Given the description of an element on the screen output the (x, y) to click on. 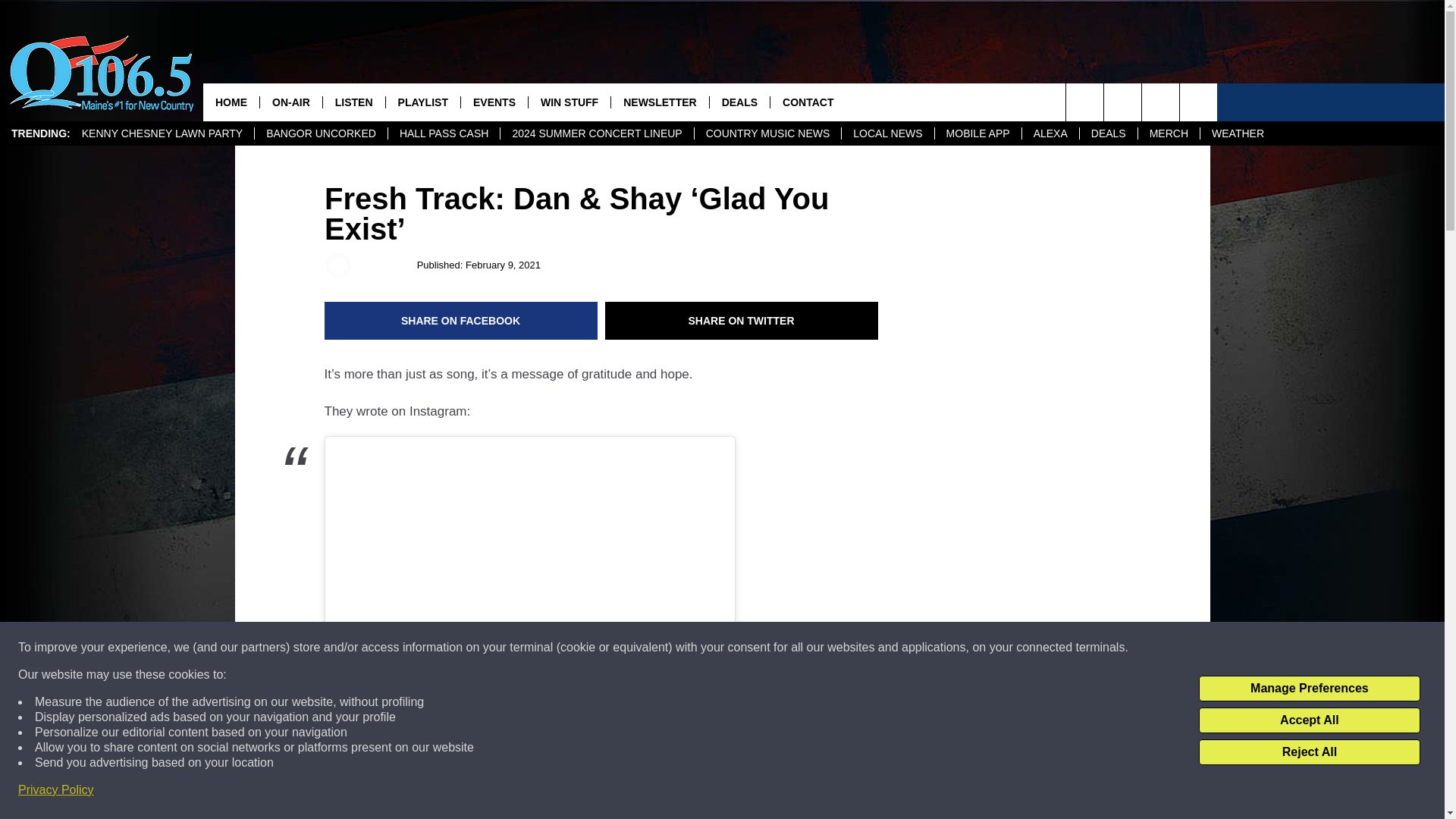
DEALS (1107, 133)
2024 SUMMER CONCERT LINEUP (596, 133)
COUNTRY MUSIC NEWS (767, 133)
PLAYLIST (422, 102)
Share on Facebook (460, 320)
Reject All (1309, 751)
ON-AIR (290, 102)
Manage Preferences (1309, 688)
BANGOR UNCORKED (320, 133)
Accept All (1309, 720)
